Given the description of an element on the screen output the (x, y) to click on. 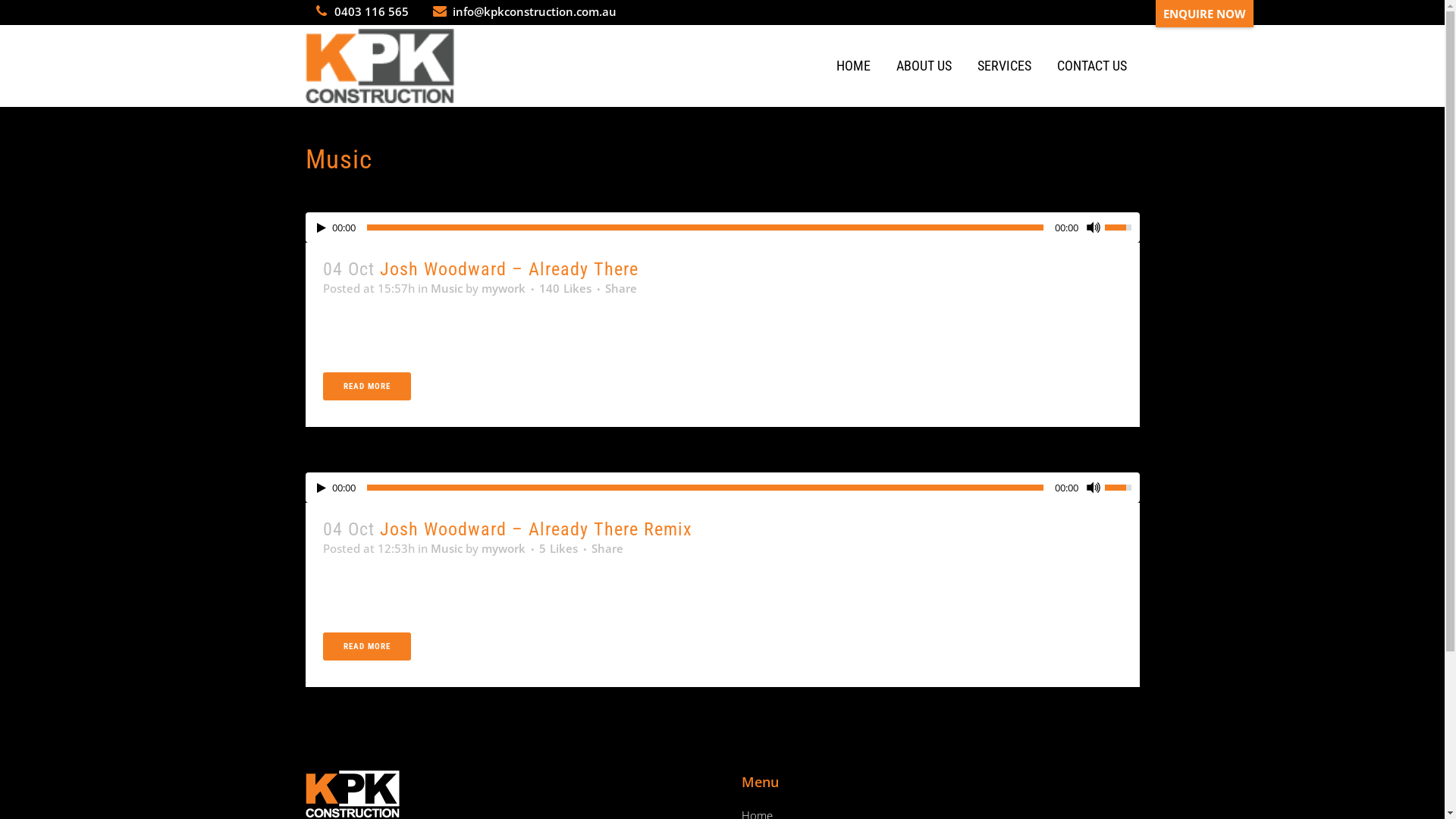
Mute Toggle Element type: hover (1092, 227)
5 Likes Element type: text (557, 547)
mywork Element type: text (502, 547)
Share Element type: text (621, 287)
Music Element type: text (446, 547)
Play/Pause Element type: hover (321, 227)
140 Likes Element type: text (564, 287)
mywork Element type: text (502, 287)
READ MORE Element type: text (367, 386)
CONTACT US Element type: text (1091, 65)
0403 116 565 Element type: text (370, 10)
Share Element type: text (607, 547)
info@kpkconstruction.com.au Element type: text (533, 10)
ABOUT US Element type: text (922, 65)
HOME Element type: text (853, 65)
Music Element type: text (446, 287)
SERVICES Element type: text (1004, 65)
READ MORE Element type: text (367, 646)
Play/Pause Element type: hover (321, 487)
Mute Toggle Element type: hover (1092, 487)
